Given the description of an element on the screen output the (x, y) to click on. 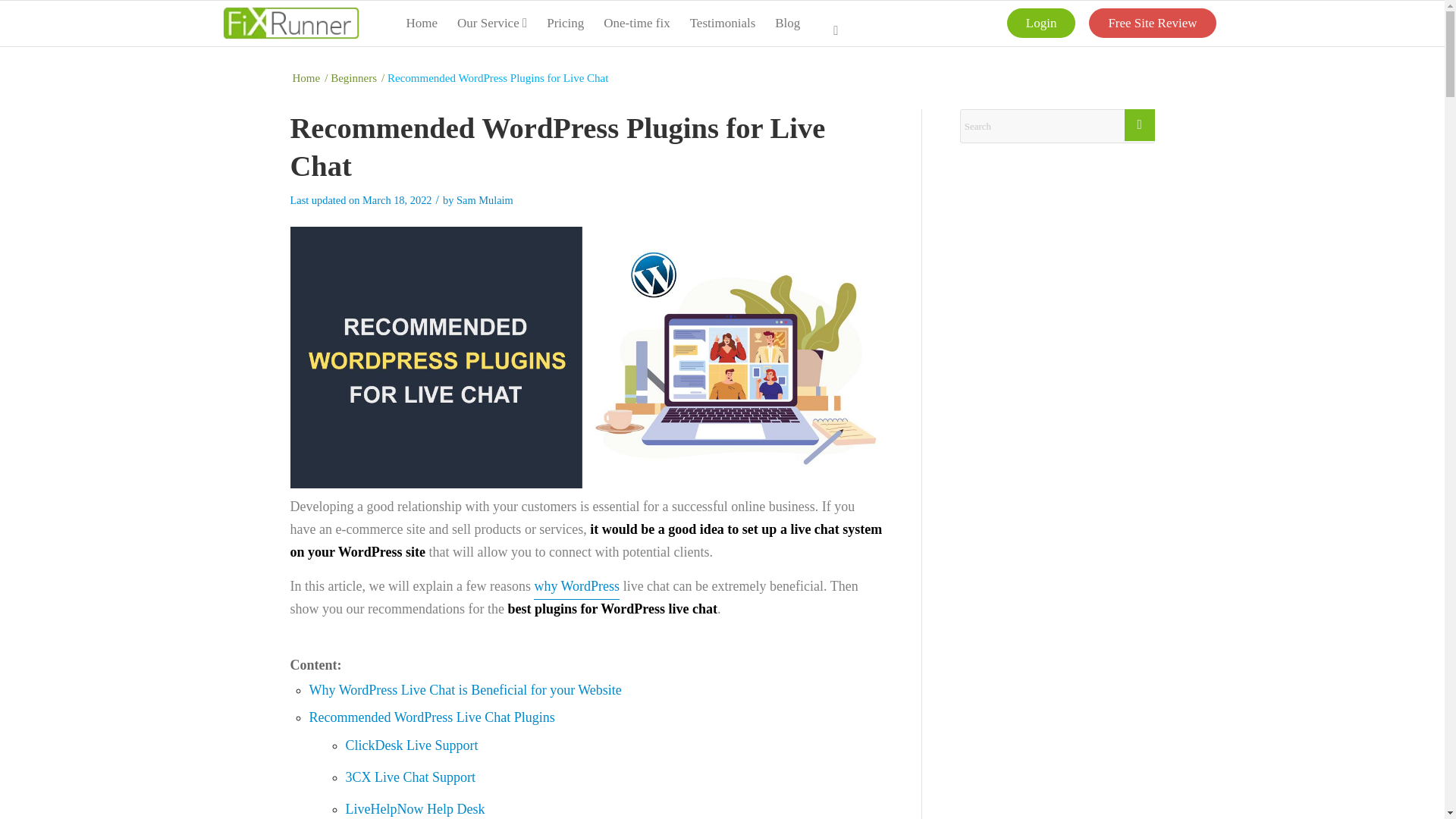
logo1 (290, 22)
3CX Live Chat Support (411, 776)
Blog (787, 22)
LiveHelpNow Help Desk (415, 808)
Why WordPress Live Chat is Beneficial for your Website (464, 689)
Pricing (565, 22)
Posts by Sam Mulaim (485, 200)
logo1 (290, 22)
ClickDesk Live Support (412, 744)
why WordPress (577, 585)
